Given the description of an element on the screen output the (x, y) to click on. 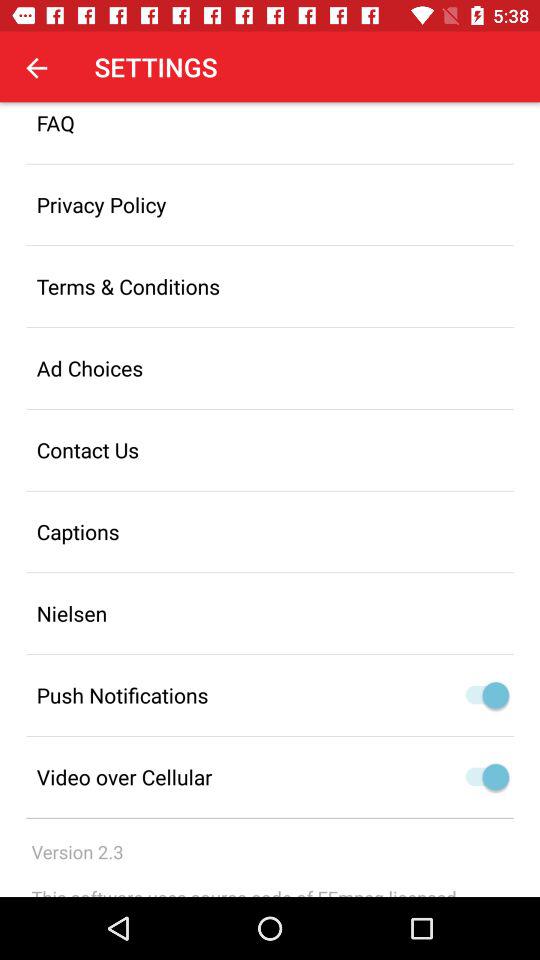
select ad choices icon (270, 368)
